Given the description of an element on the screen output the (x, y) to click on. 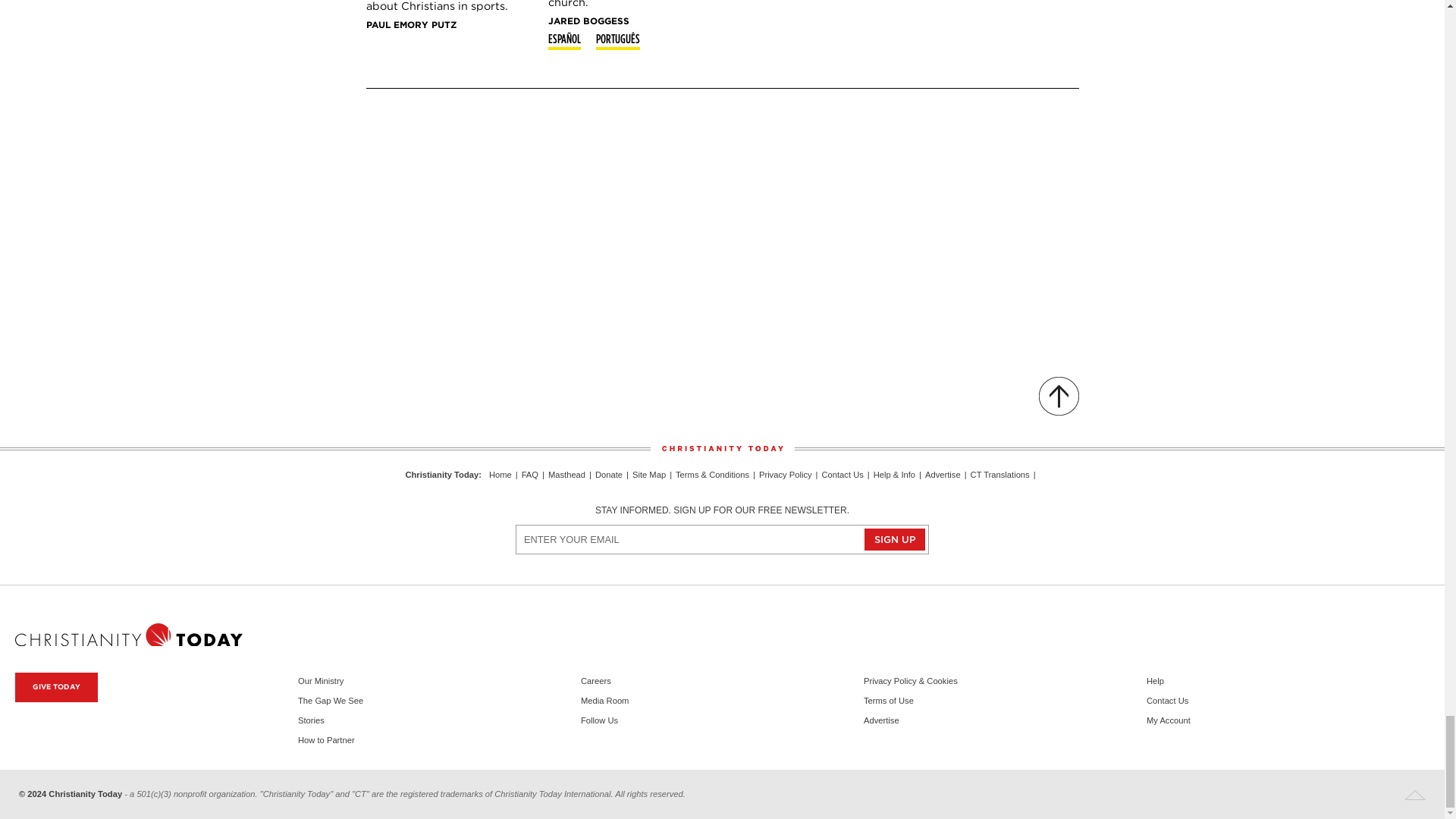
Sign Up (894, 539)
